Given the description of an element on the screen output the (x, y) to click on. 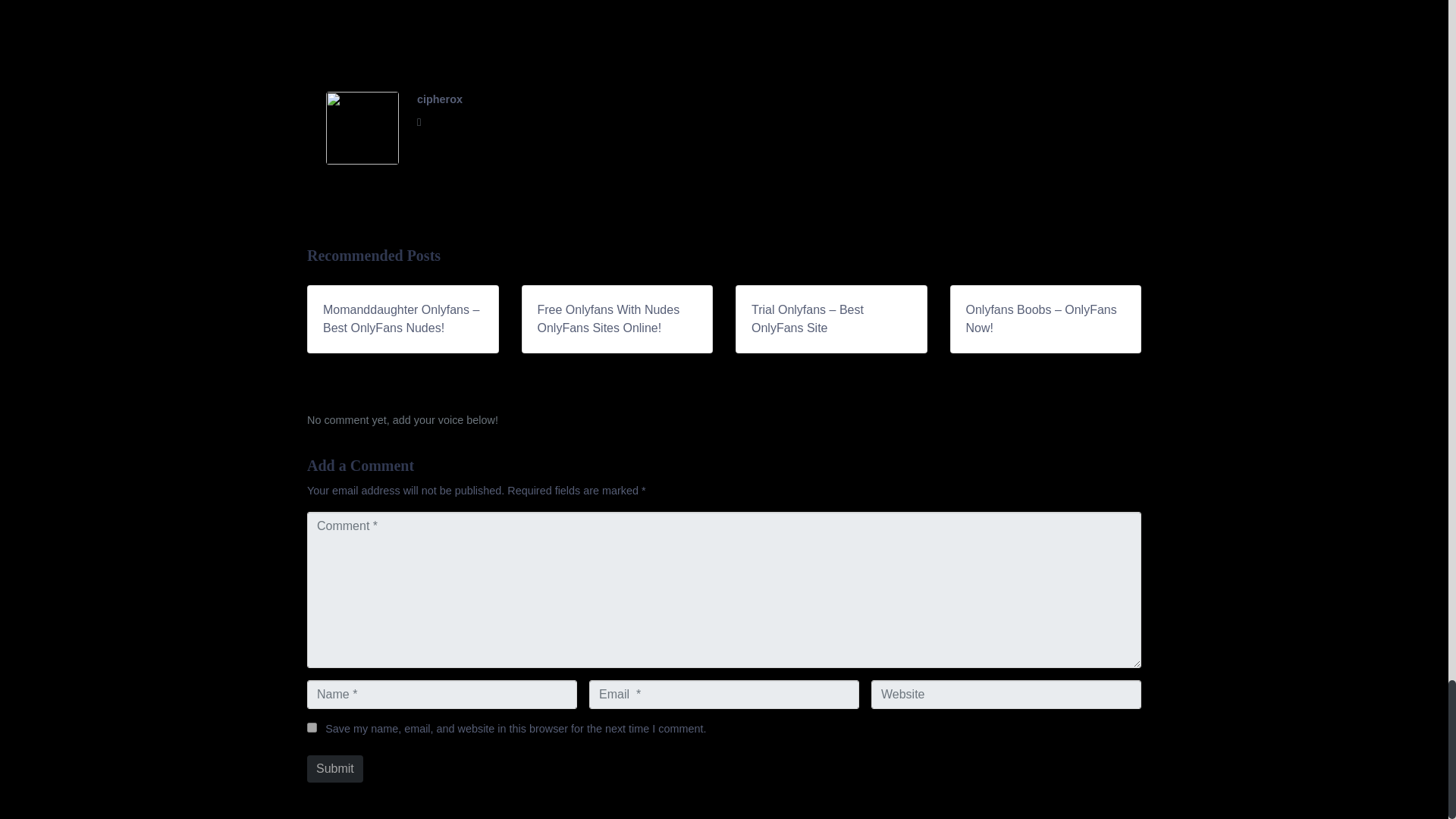
Submit (334, 768)
Free Onlyfans With Nudes OnlyFans Sites Online! (617, 318)
cipherox (439, 99)
yes (312, 727)
